Given the description of an element on the screen output the (x, y) to click on. 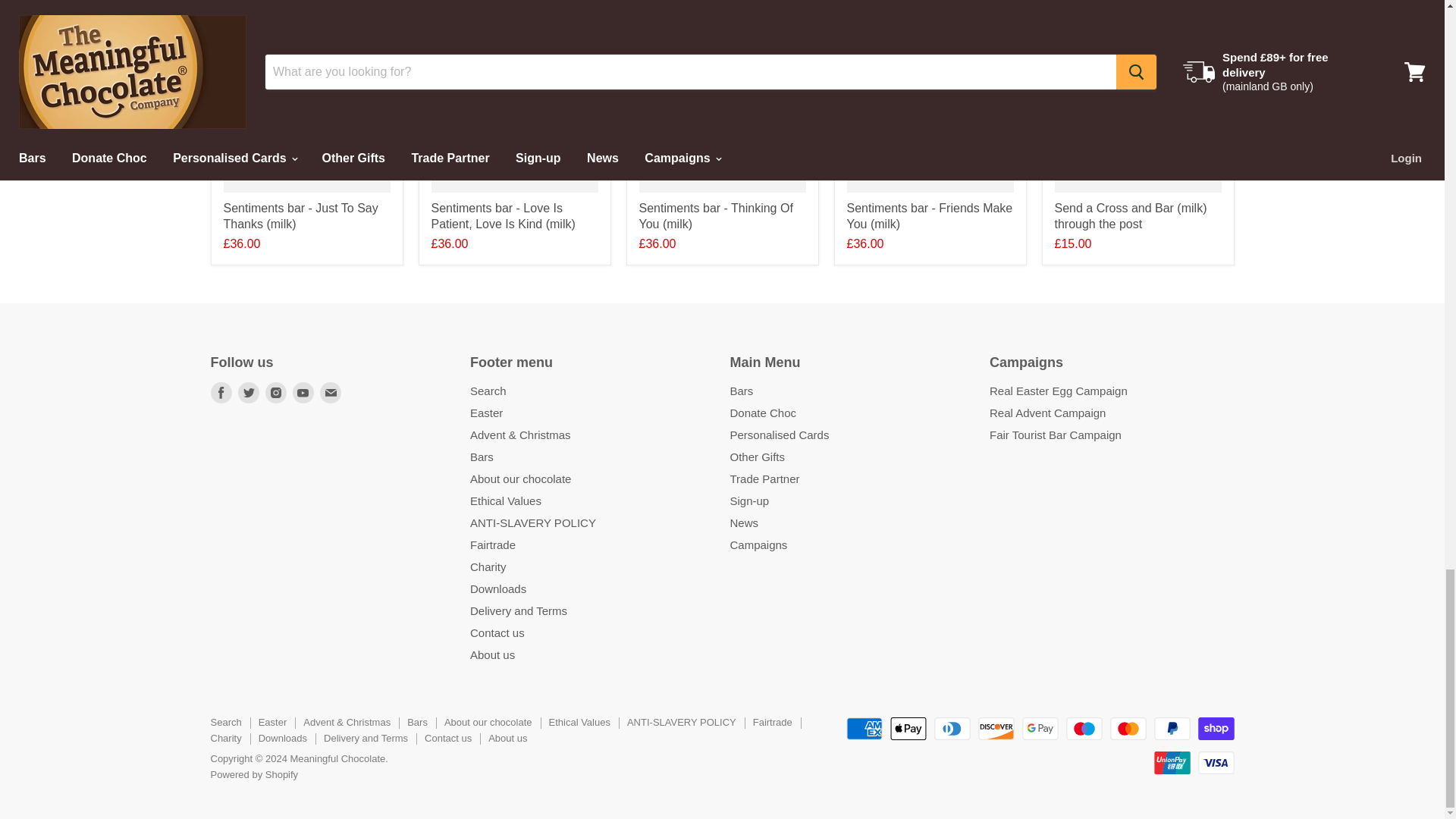
American Express (863, 728)
E-mail (330, 392)
Instagram (275, 392)
Facebook (221, 392)
Apple Pay (907, 728)
Twitter (248, 392)
Youtube (303, 392)
